Given the description of an element on the screen output the (x, y) to click on. 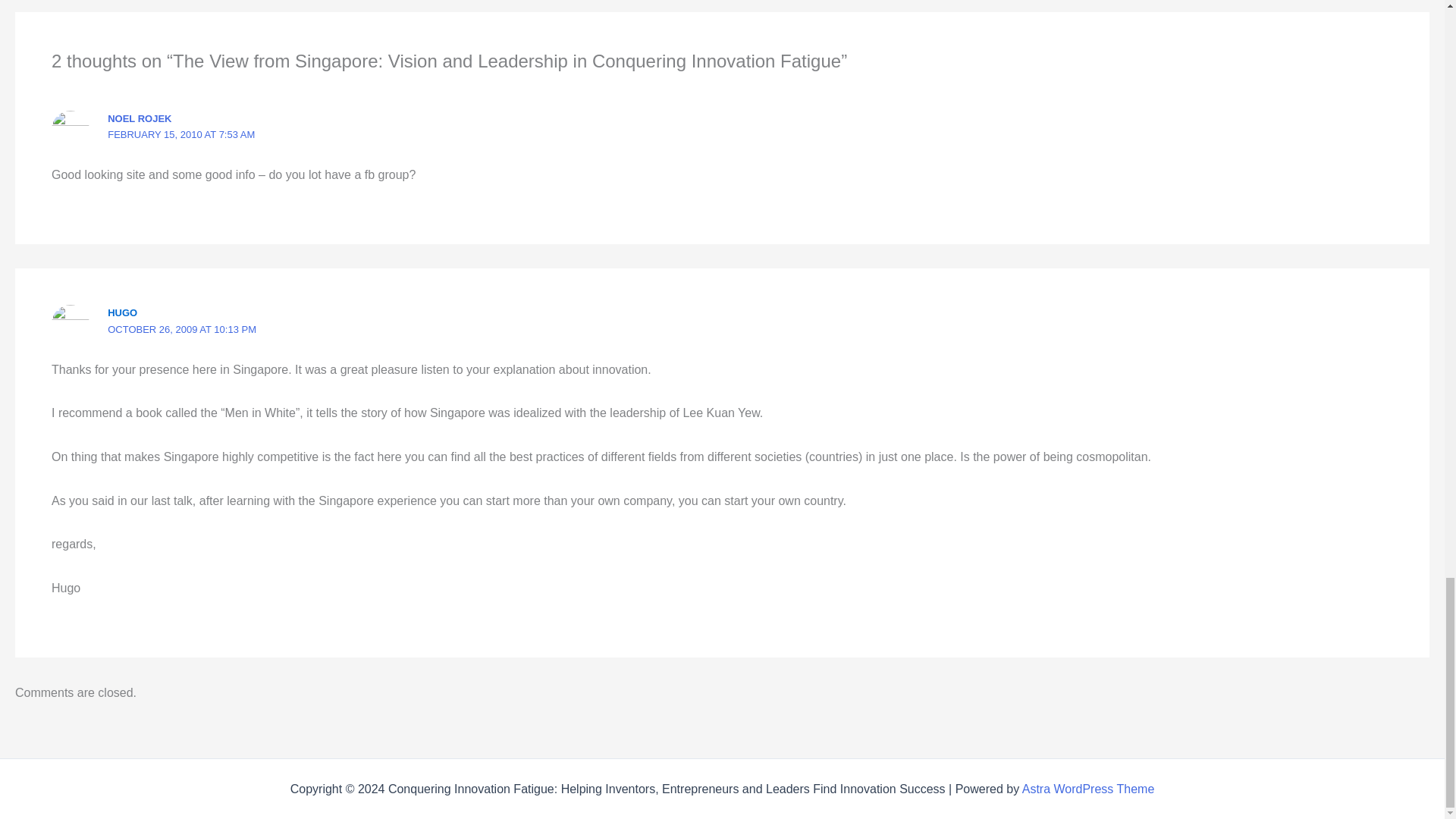
OCTOBER 26, 2009 AT 10:13 PM (181, 328)
FEBRUARY 15, 2010 AT 7:53 AM (180, 134)
NOEL ROJEK (139, 118)
Astra WordPress Theme (1088, 788)
